Given the description of an element on the screen output the (x, y) to click on. 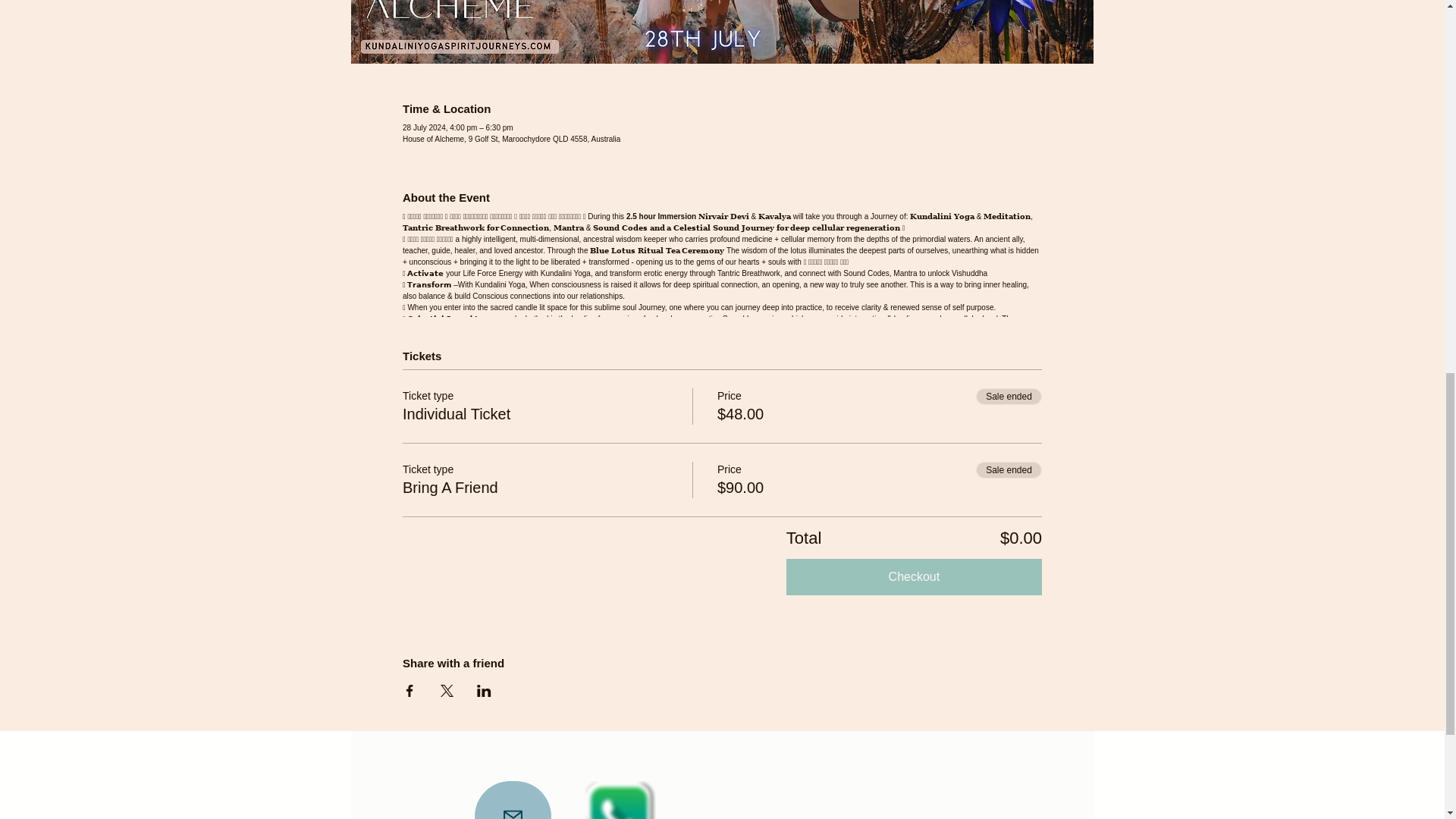
Checkout (914, 576)
